Given the description of an element on the screen output the (x, y) to click on. 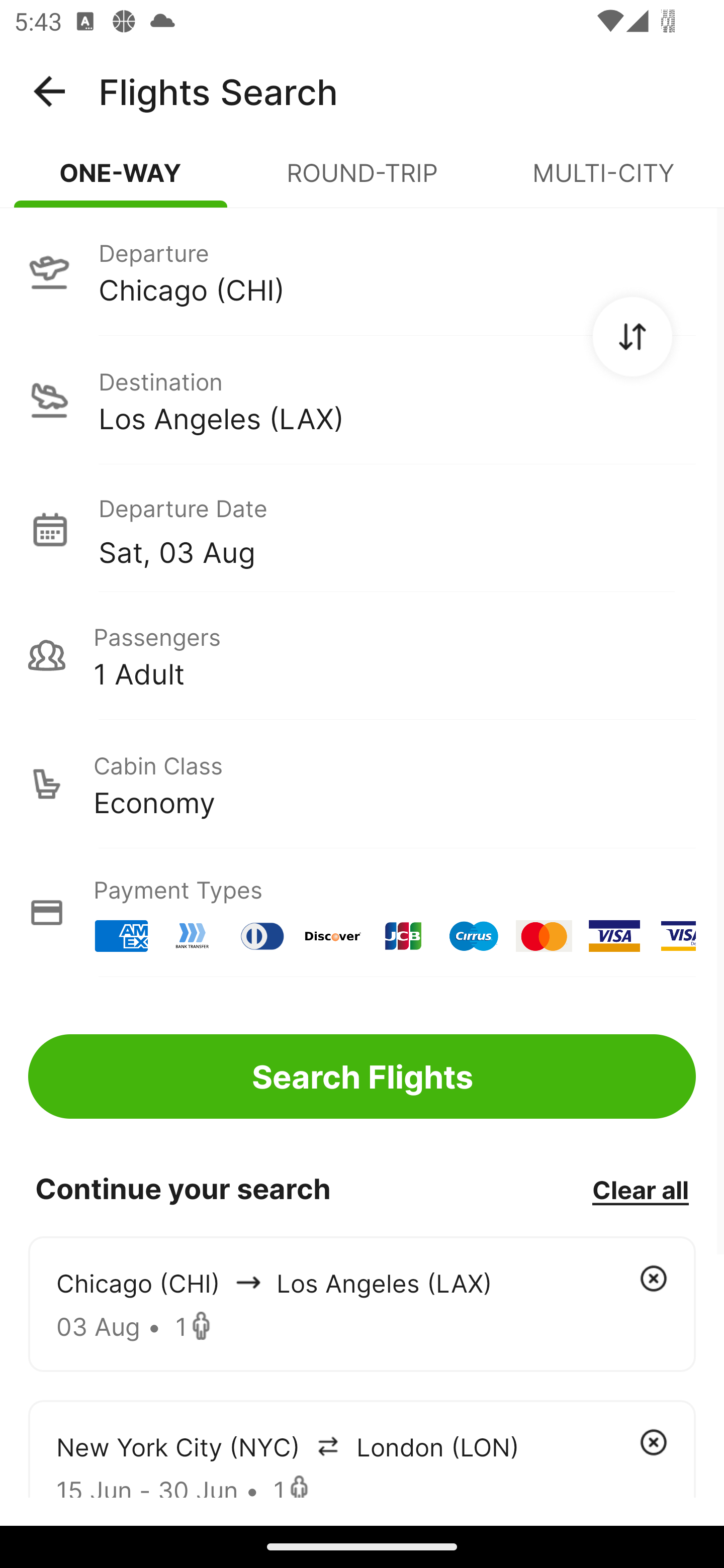
ONE-WAY (120, 180)
ROUND-TRIP (361, 180)
MULTI-CITY (603, 180)
Departure Chicago (CHI) (362, 270)
Destination Los Angeles (LAX) (362, 400)
Departure Date Sat, 03 Aug (396, 528)
Passengers 1 Adult (362, 655)
Cabin Class Economy (362, 783)
Payment Types (362, 912)
Search Flights (361, 1075)
Clear all (640, 1189)
